Given the description of an element on the screen output the (x, y) to click on. 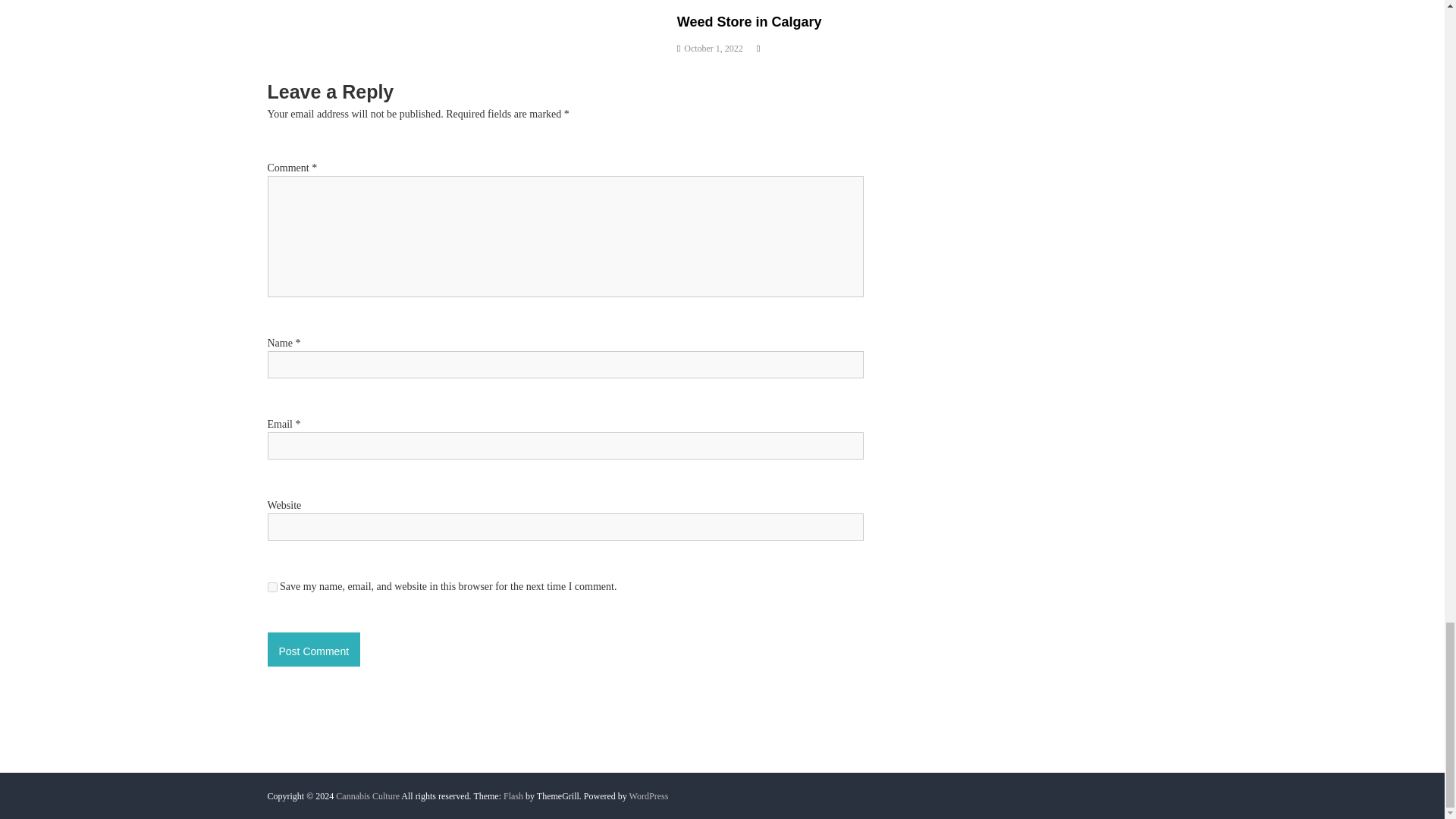
Cannabis Culture (367, 796)
Weed Store in Calgary (749, 21)
Weed Store in Calgary (749, 21)
Flash (512, 796)
October 1, 2022 (713, 48)
yes (271, 587)
Post Comment (312, 649)
WordPress (648, 796)
Post Comment (312, 649)
